Given the description of an element on the screen output the (x, y) to click on. 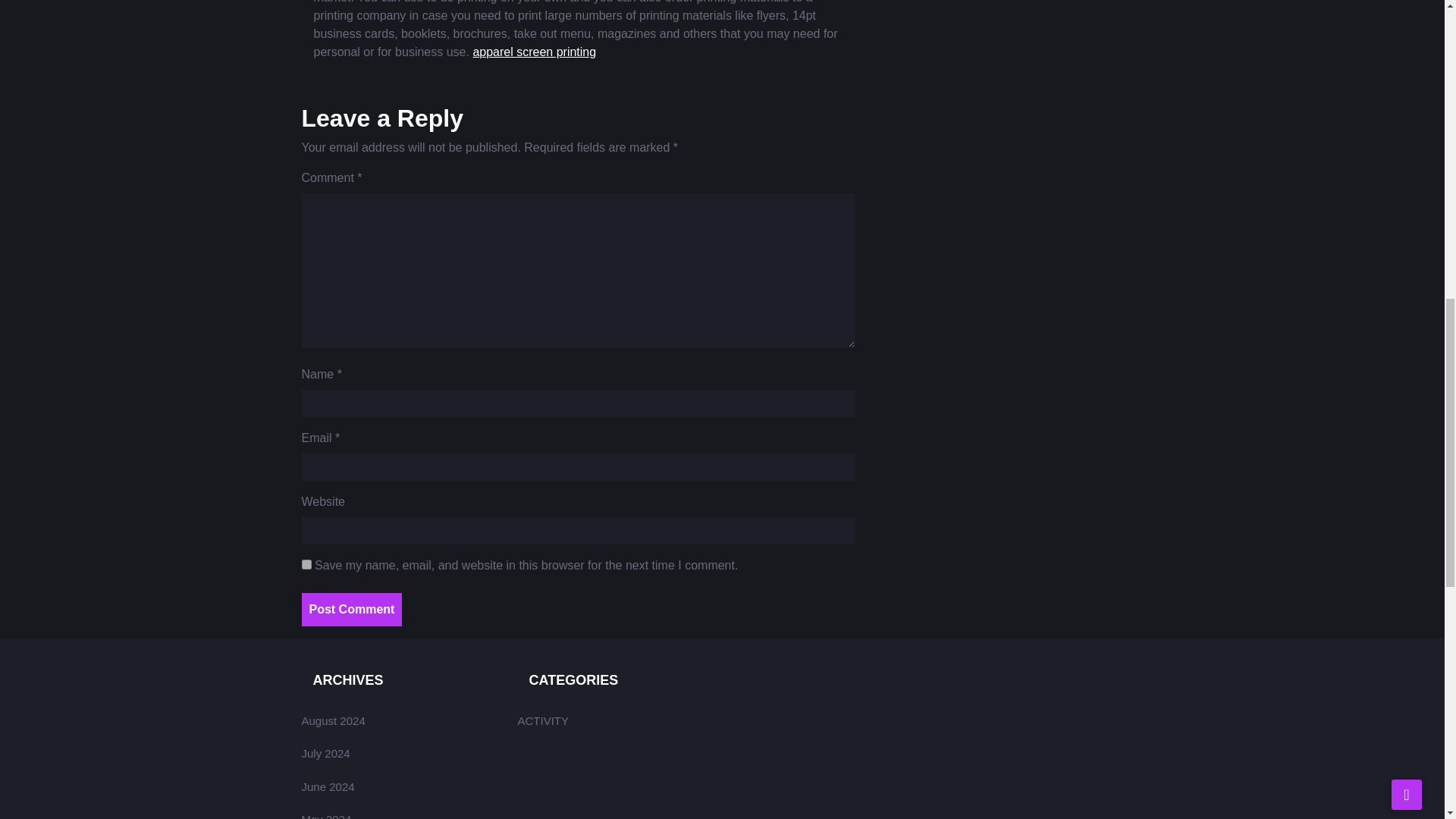
August 2024 (333, 720)
May 2024 (326, 816)
Post Comment (352, 609)
June 2024 (328, 786)
yes (306, 564)
July 2024 (325, 753)
Post Comment (352, 609)
apparel screen printing (533, 51)
